Given the description of an element on the screen output the (x, y) to click on. 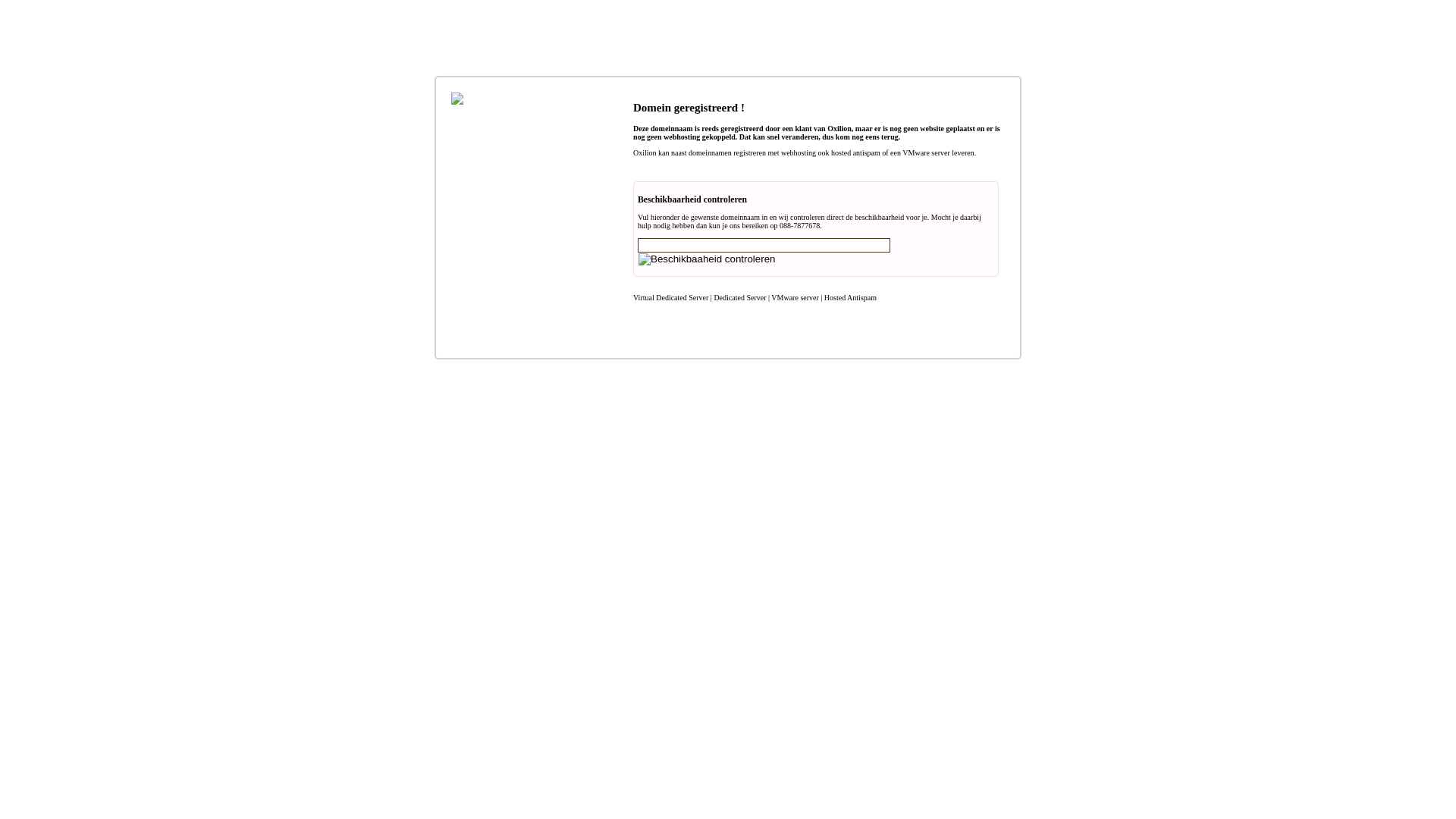
VMware server Element type: text (794, 297)
hosted antispam Element type: text (855, 152)
webhosting Element type: text (681, 136)
webhosting Element type: text (798, 152)
Virtual Dedicated Server Element type: text (670, 297)
Dedicated Server Element type: text (739, 297)
Hosted Antispam Element type: text (850, 297)
domeinnamen registreren Element type: text (726, 152)
VMware server Element type: text (925, 152)
